Given the description of an element on the screen output the (x, y) to click on. 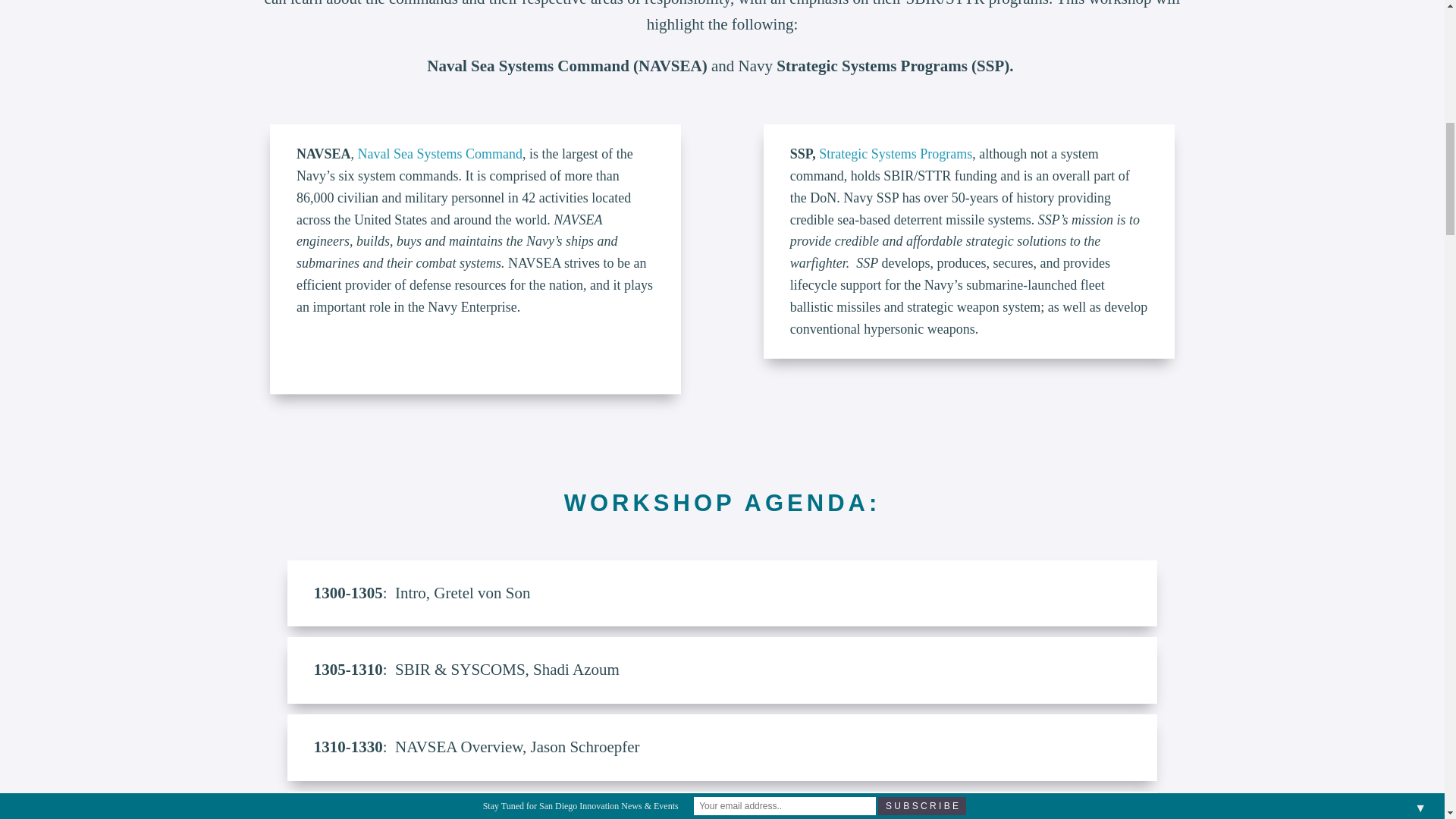
Strategic Systems Programs (895, 153)
Naval Sea Systems Command (440, 153)
